Given the description of an element on the screen output the (x, y) to click on. 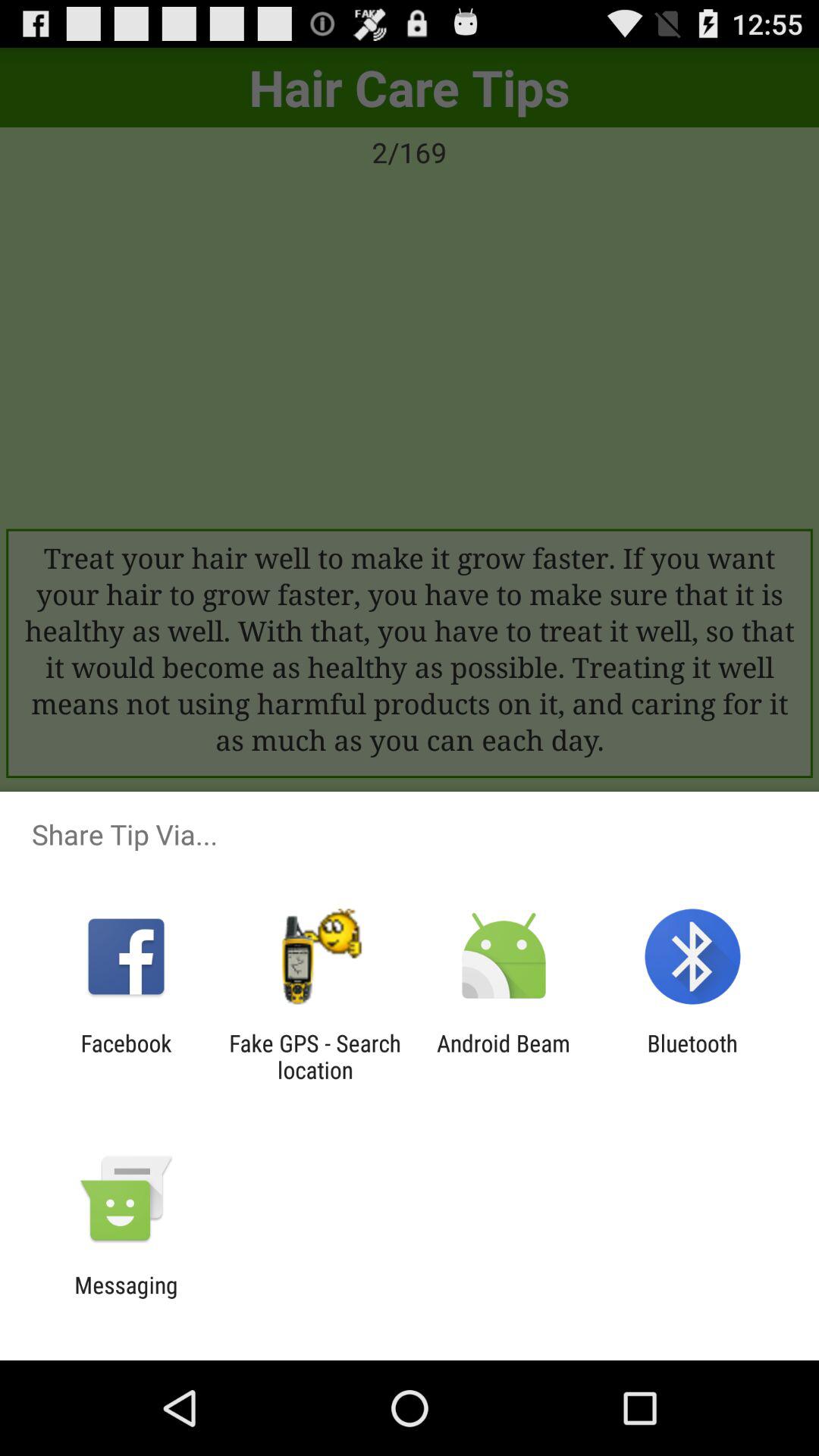
turn off icon to the right of the fake gps search icon (503, 1056)
